Given the description of an element on the screen output the (x, y) to click on. 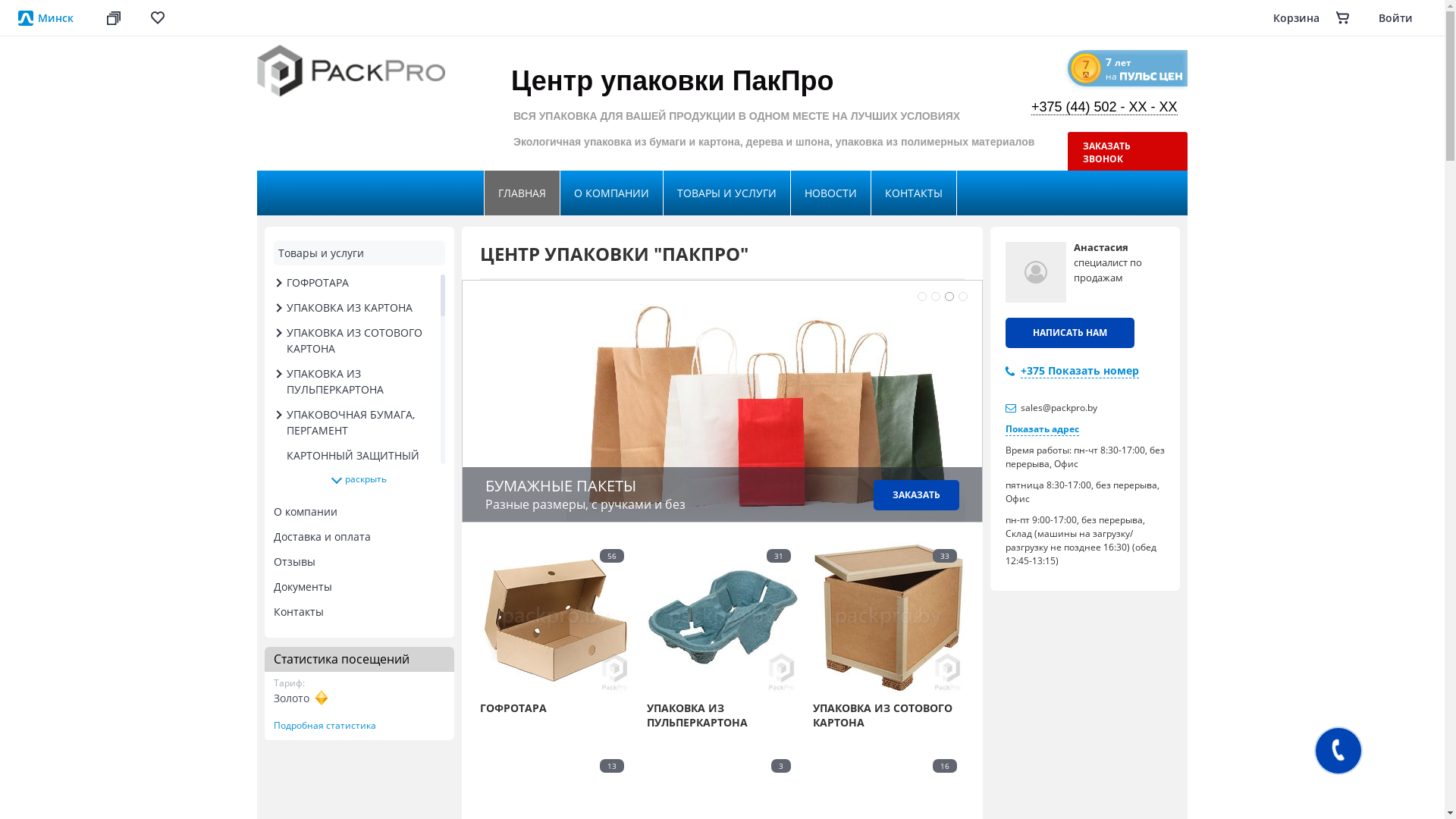
sales@packpro.by Element type: text (1058, 407)
